Given the description of an element on the screen output the (x, y) to click on. 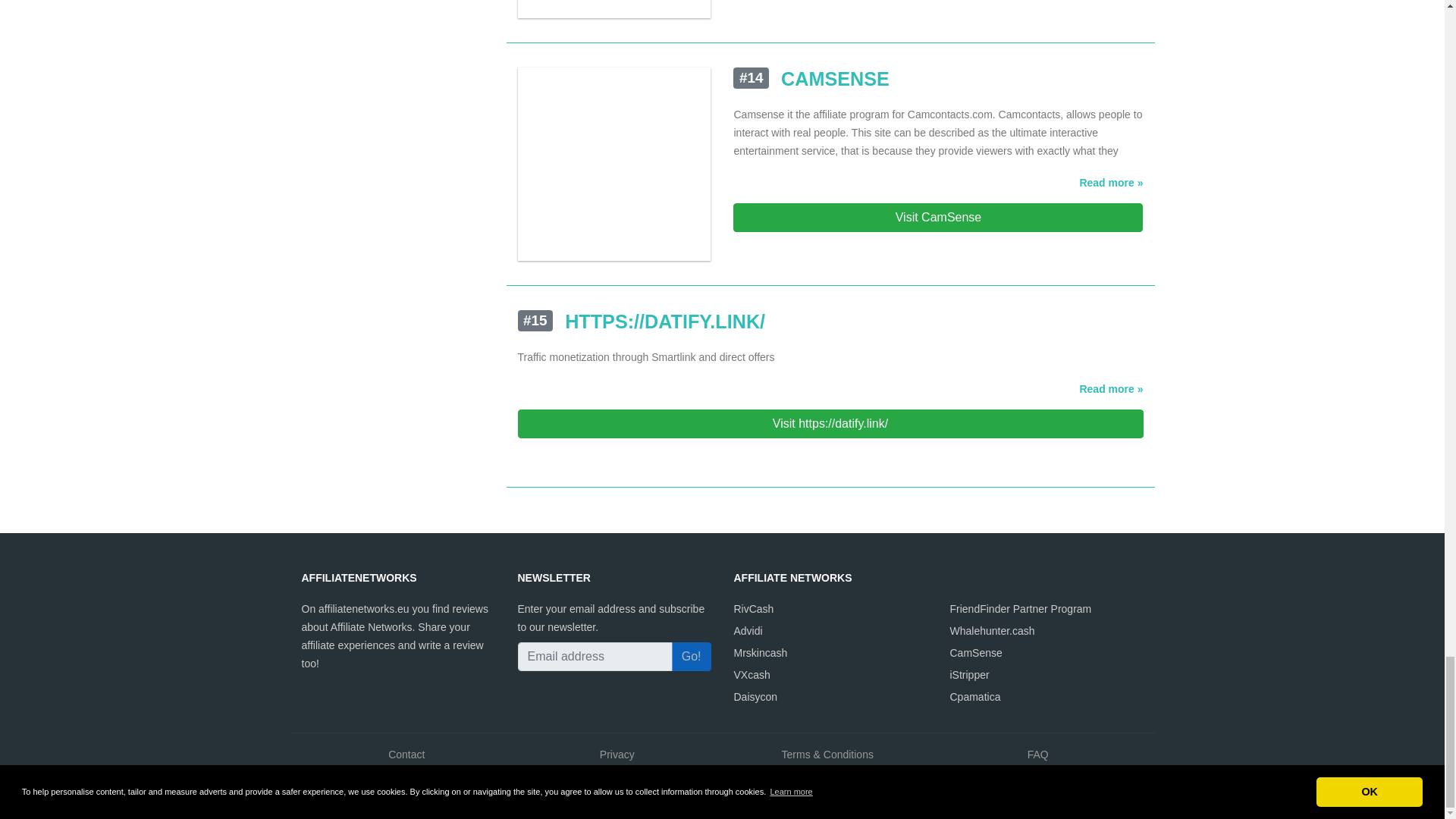
Go! (691, 656)
